Given the description of an element on the screen output the (x, y) to click on. 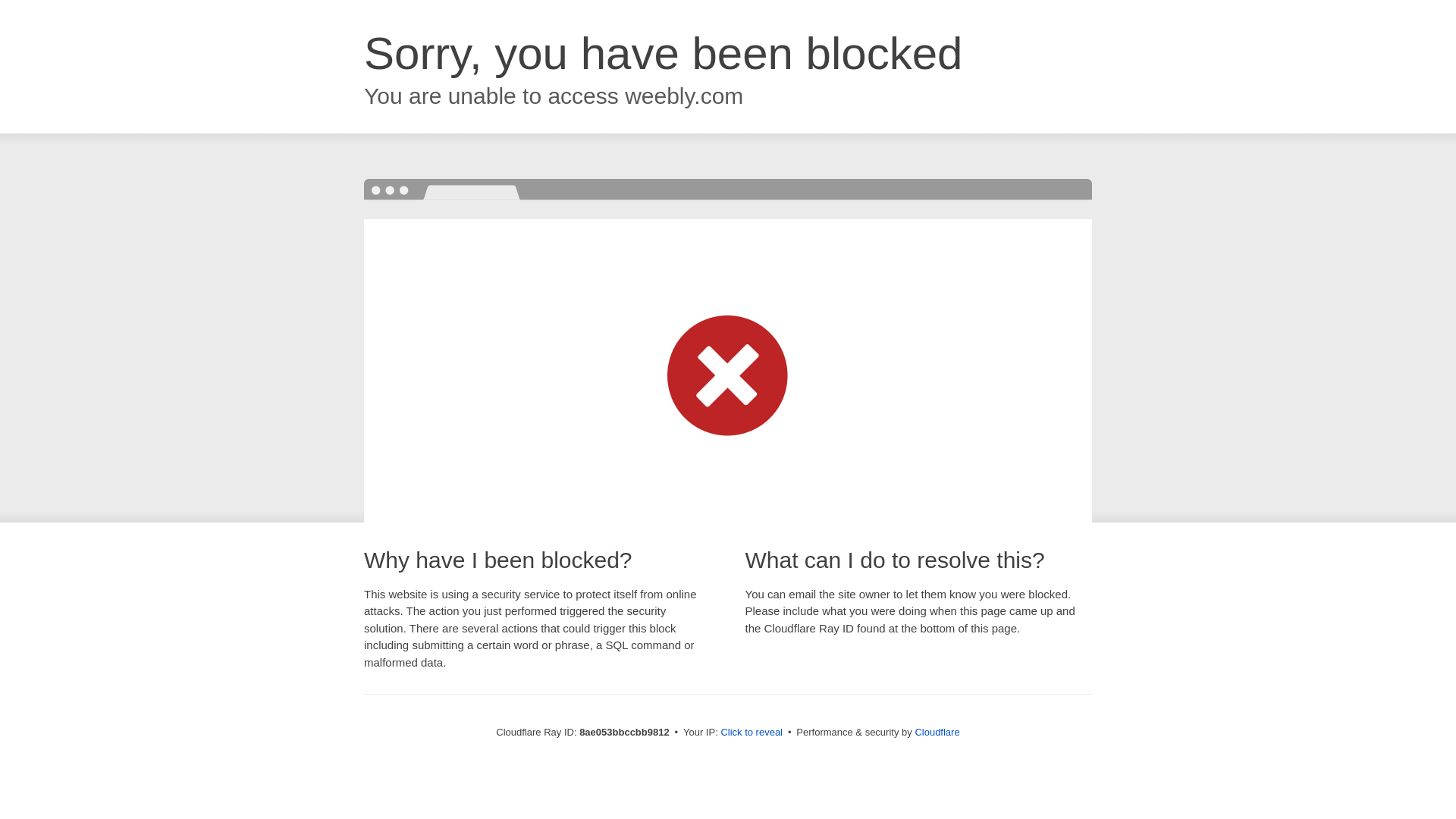
Cloudflare (936, 731)
Click to reveal (751, 732)
